Given the description of an element on the screen output the (x, y) to click on. 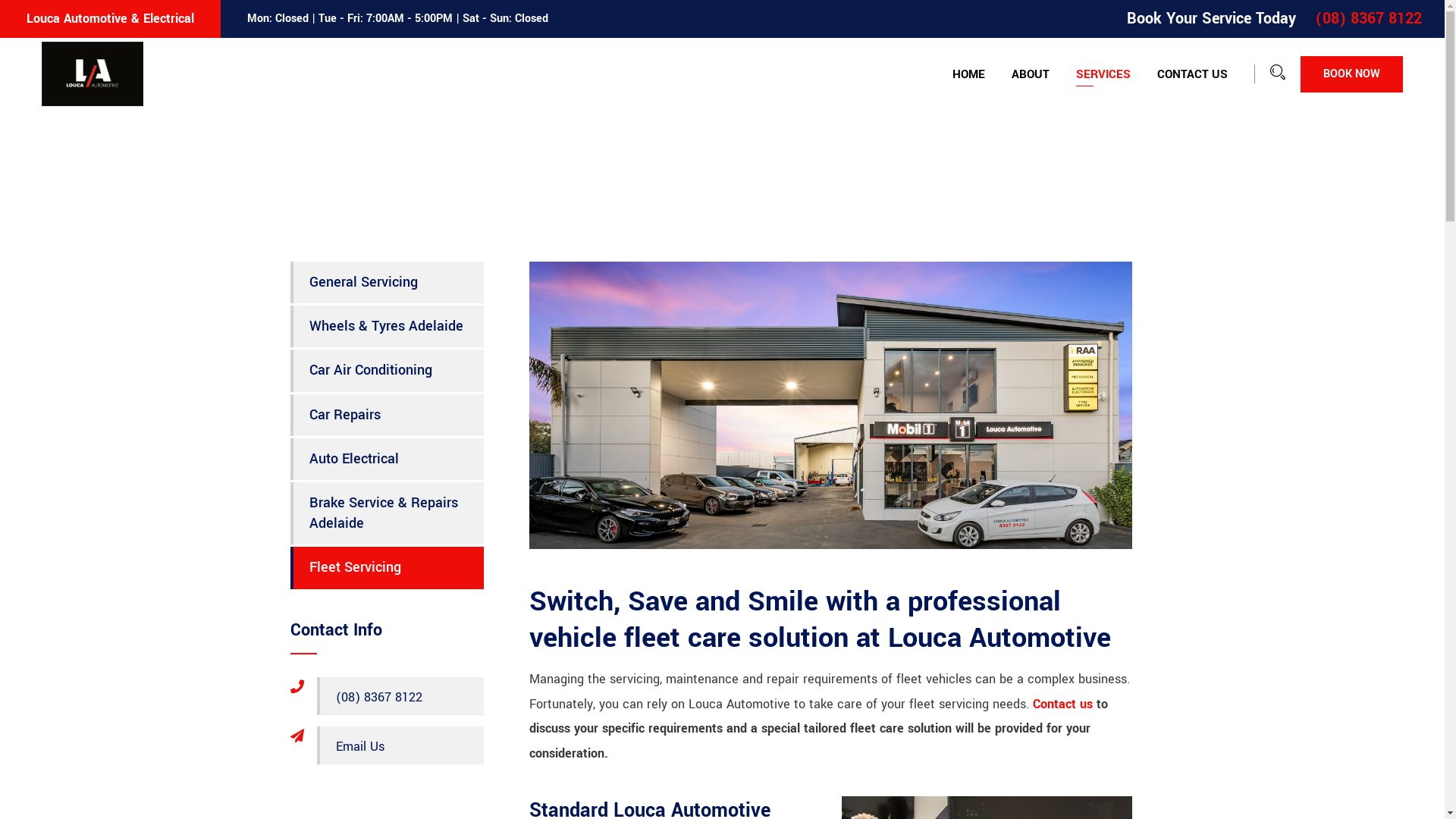
Car Repairs Element type: text (386, 415)
General Servicing Element type: text (386, 282)
Email Us Element type: text (399, 744)
CONTACT US Element type: text (1192, 73)
(08) 8367 8122 Element type: text (399, 696)
Louca Automotive Element type: hover (92, 73)
Contact us Element type: text (1062, 703)
Wheels & Tyres Adelaide Element type: text (386, 326)
HOME Element type: text (968, 73)
ABOUT Element type: text (1030, 73)
Car Air Conditioning Element type: text (386, 370)
SERVICES Element type: text (1103, 73)
BOOK NOW Element type: text (1351, 74)
Brake Service & Repairs Adelaide Element type: text (386, 513)
Fleet Servicing Element type: text (386, 567)
Auto Electrical Element type: text (386, 459)
(08) 8367 8122 Element type: text (1367, 18)
